Given the description of an element on the screen output the (x, y) to click on. 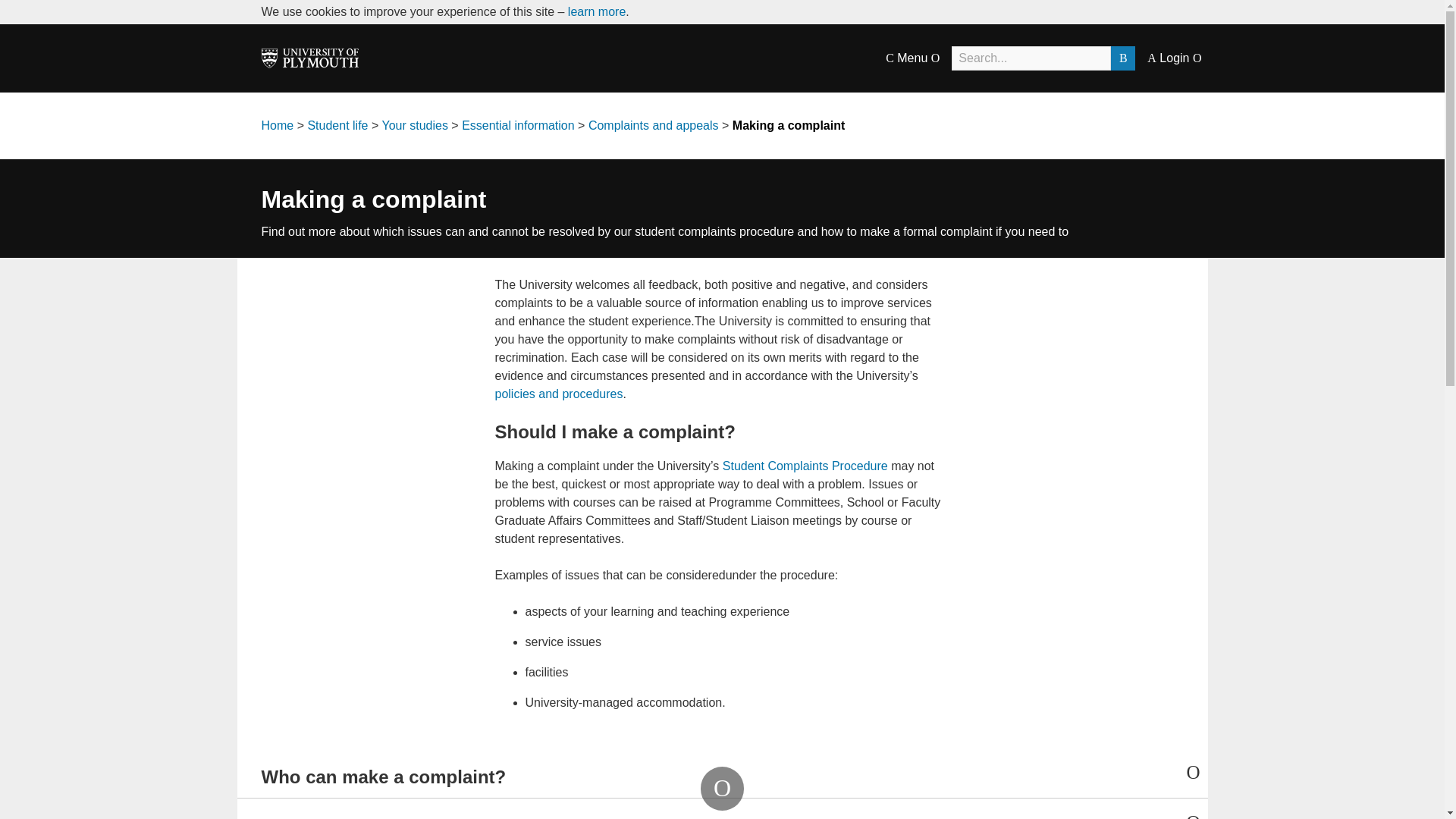
C Menu O (911, 58)
A Login O (1174, 58)
B (1122, 57)
learn more (596, 11)
